Given the description of an element on the screen output the (x, y) to click on. 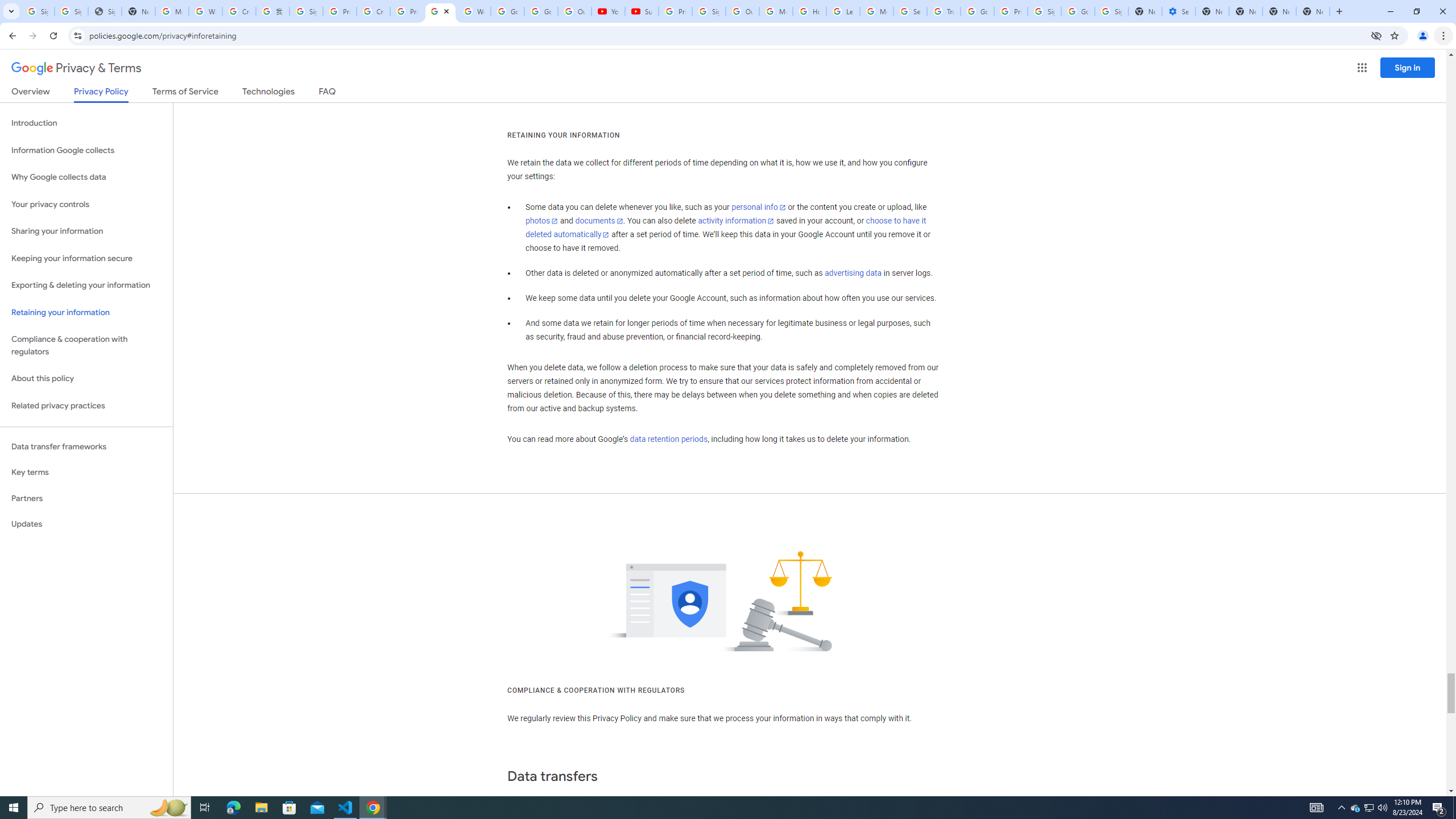
Sign in - Google Accounts (708, 11)
Google Cybersecurity Innovations - Google Safety Center (1077, 11)
photos (542, 221)
Key terms (86, 472)
Sign in - Google Accounts (1043, 11)
advertising data (852, 273)
YouTube (608, 11)
Sign in - Google Accounts (305, 11)
